Given the description of an element on the screen output the (x, y) to click on. 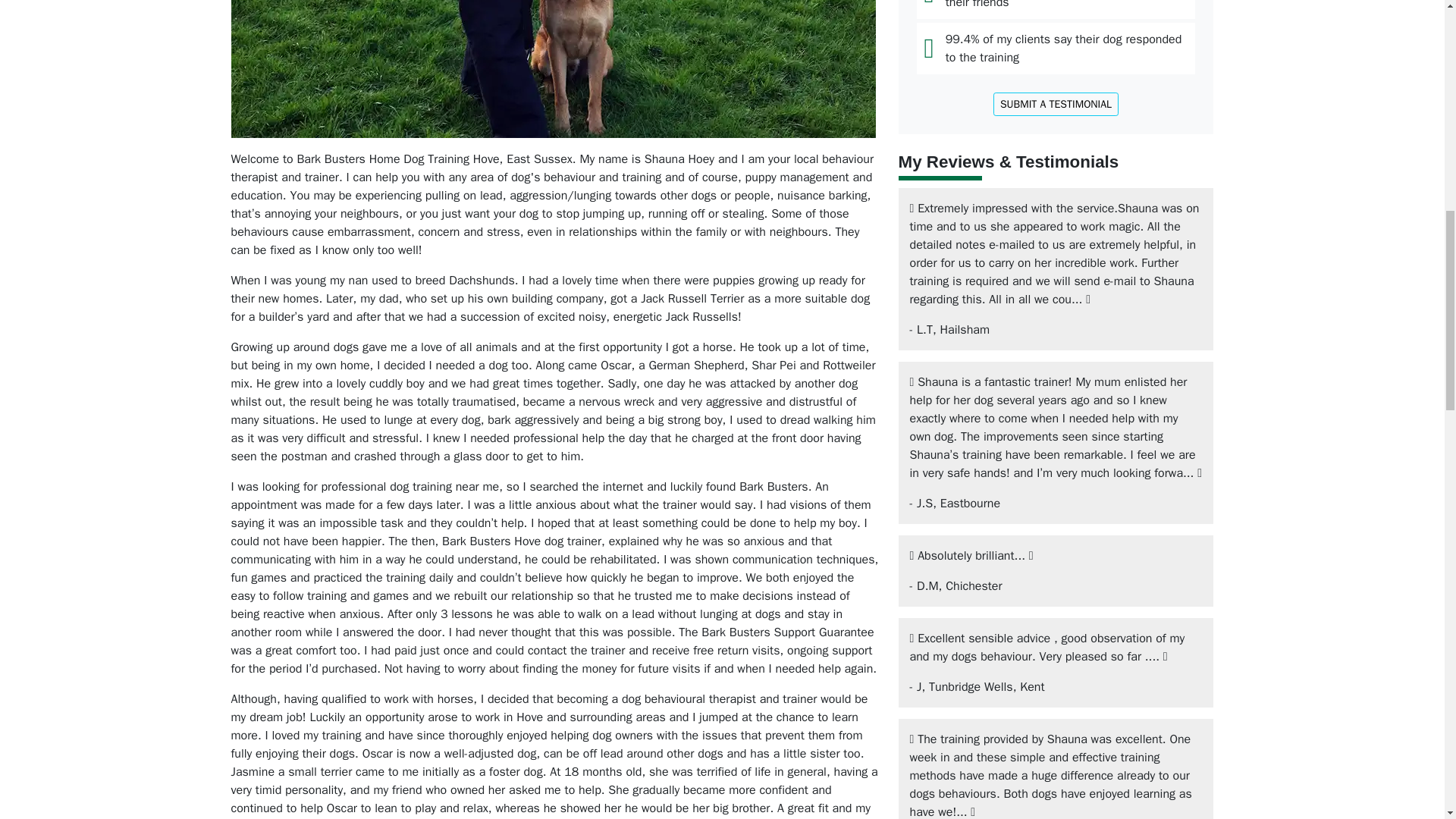
SUBMIT A TESTIMONIAL (1055, 104)
